Given the description of an element on the screen output the (x, y) to click on. 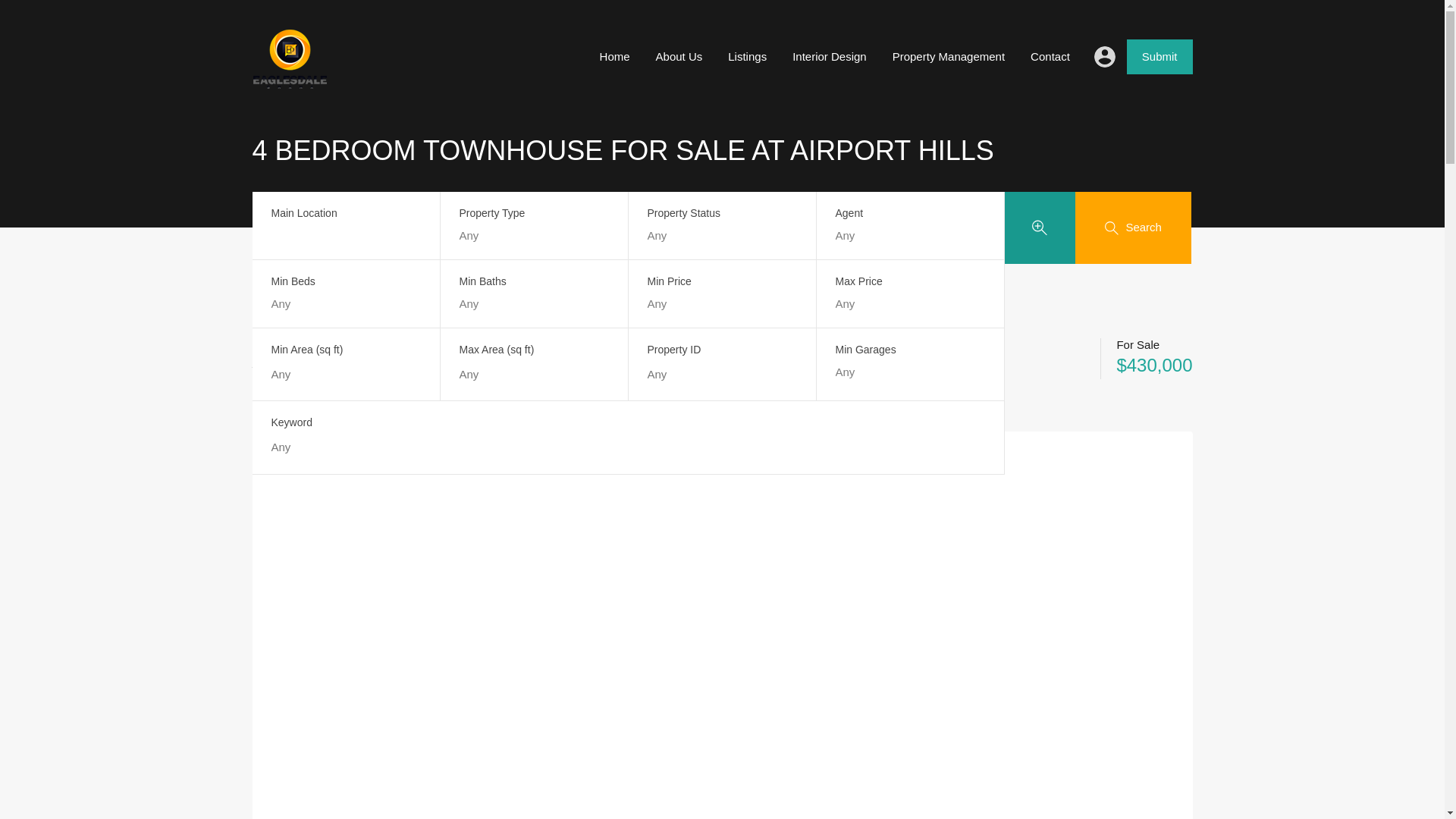
About Us (679, 56)
Interior Design (828, 56)
Home (266, 386)
Listings (746, 56)
Property Management (948, 56)
Submit (1159, 56)
Contact (1050, 56)
Airport Hills (330, 386)
Home (614, 56)
Only provide digits! (345, 374)
